Given the description of an element on the screen output the (x, y) to click on. 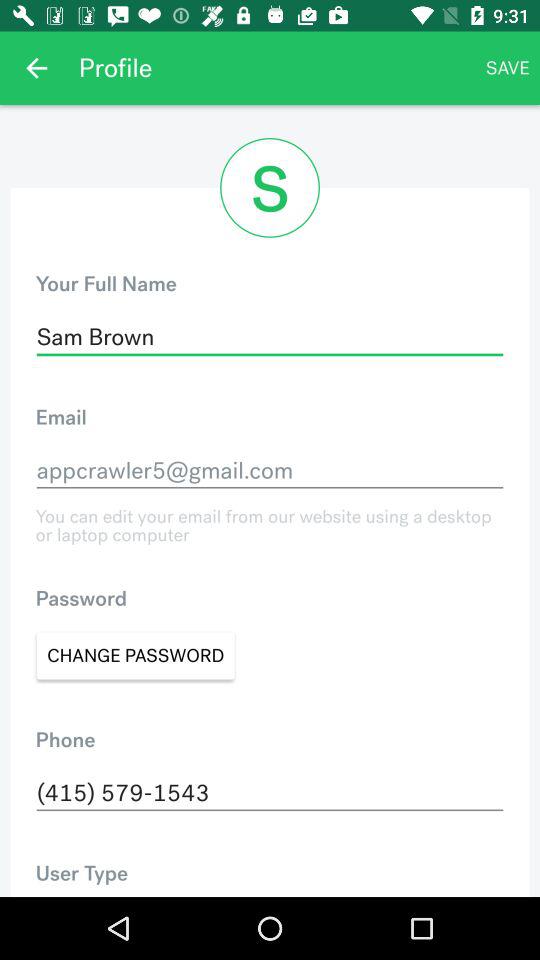
turn off the save (507, 67)
